Given the description of an element on the screen output the (x, y) to click on. 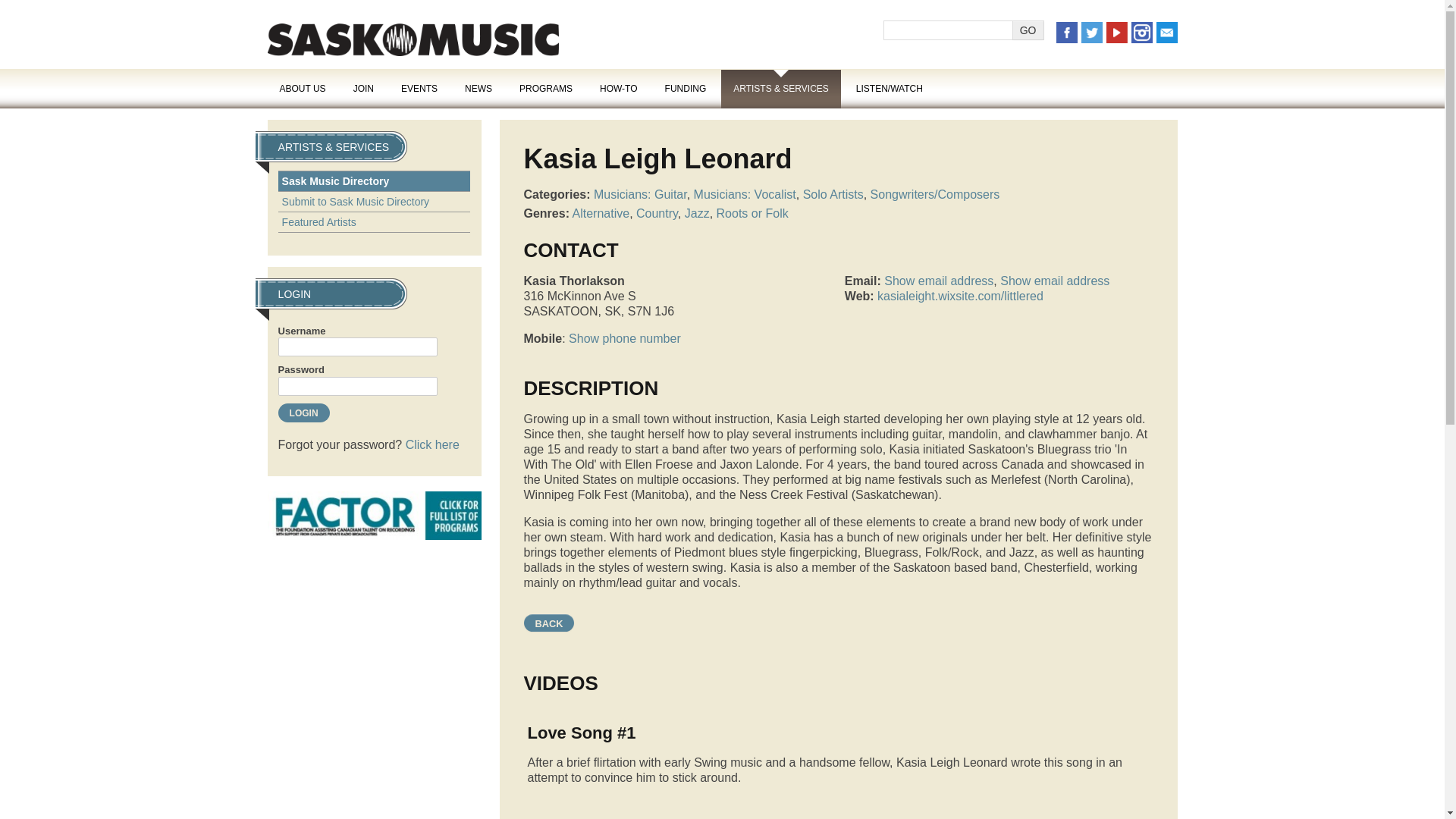
SaskMusic (411, 39)
Login (304, 412)
Facebook (1066, 31)
NEWS (477, 88)
Go (1027, 30)
Twitter (1091, 31)
PROGRAMS (545, 88)
ABOUT US (301, 88)
Go (1027, 30)
YouTube (1115, 31)
